Given the description of an element on the screen output the (x, y) to click on. 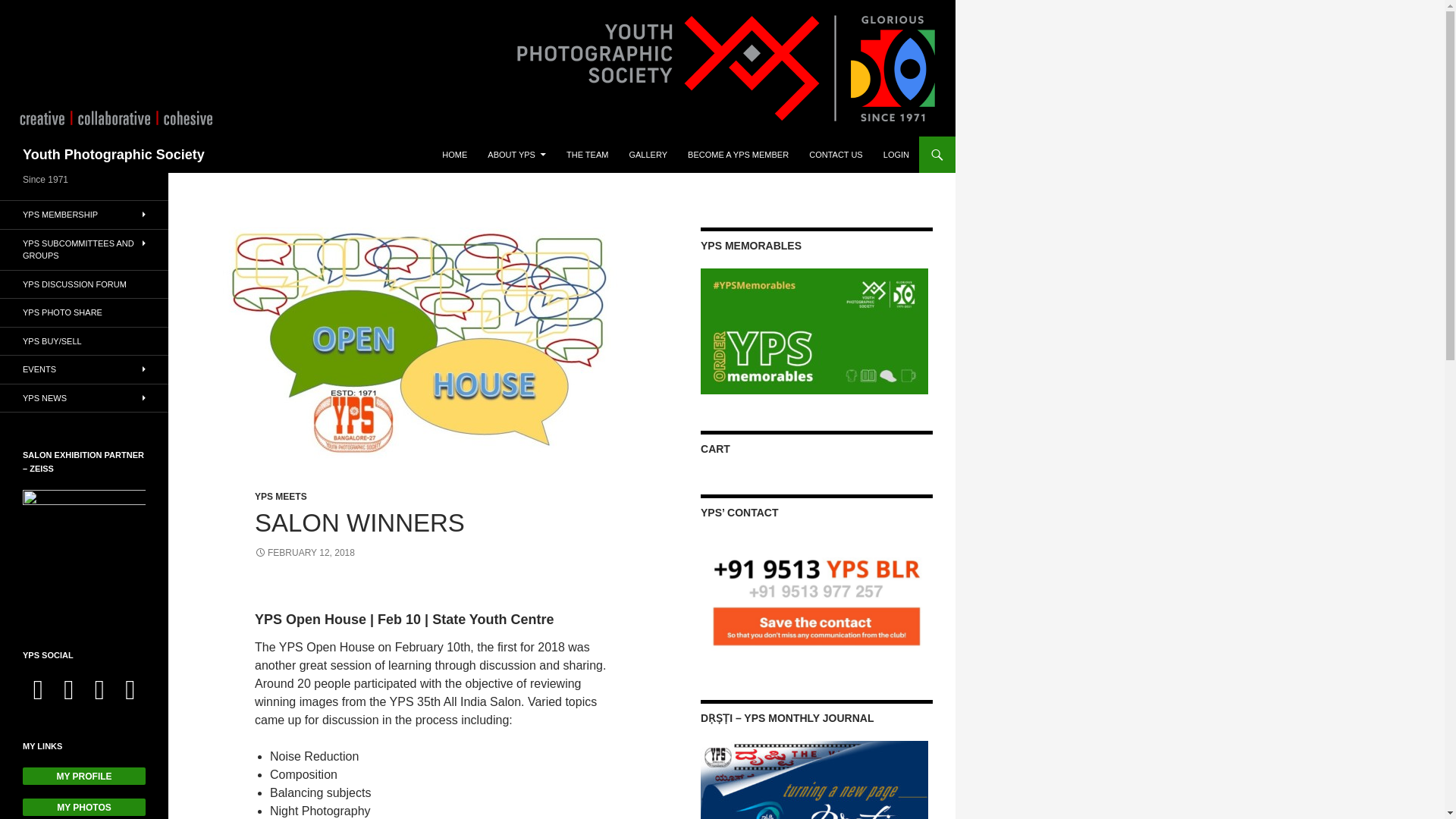
ABOUT YPS (516, 154)
HOME (454, 154)
THE TEAM (587, 154)
LOGIN (896, 154)
YPS MEETS (280, 496)
GALLERY (648, 154)
CONTACT US (835, 154)
FEBRUARY 12, 2018 (304, 552)
BECOME A YPS MEMBER (737, 154)
Youth Photographic Society (114, 154)
YPS SUBCOMMITTEES AND GROUPS (84, 249)
YPS MEMBERSHIP (84, 214)
